Given the description of an element on the screen output the (x, y) to click on. 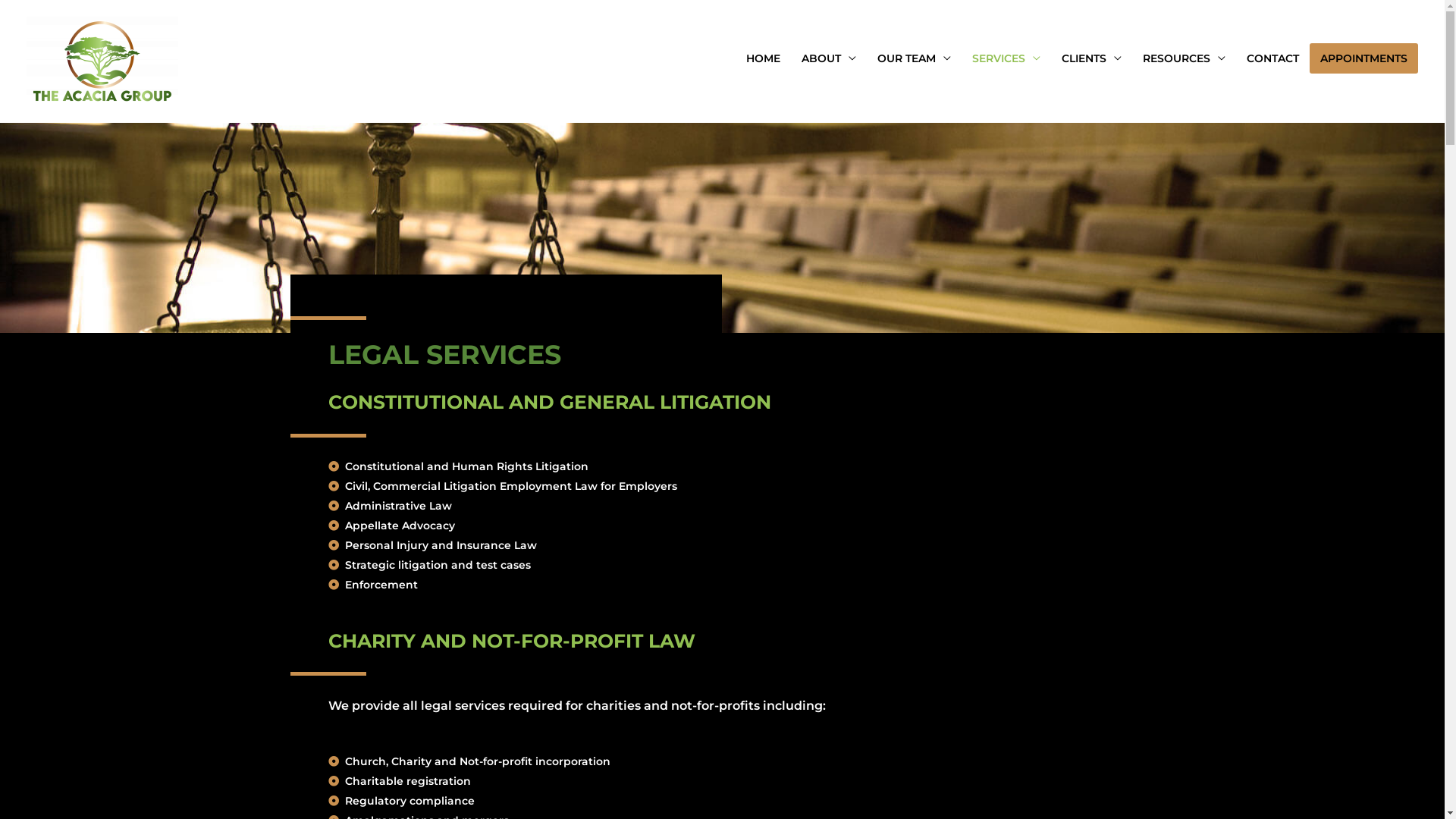
CLIENTS Element type: text (1091, 58)
HOME Element type: text (762, 58)
APPOINTMENTS Element type: text (1363, 58)
OUR TEAM Element type: text (913, 58)
RESOURCES Element type: text (1184, 58)
SERVICES Element type: text (1006, 58)
CONTACT Element type: text (1272, 58)
ABOUT Element type: text (828, 58)
